Given the description of an element on the screen output the (x, y) to click on. 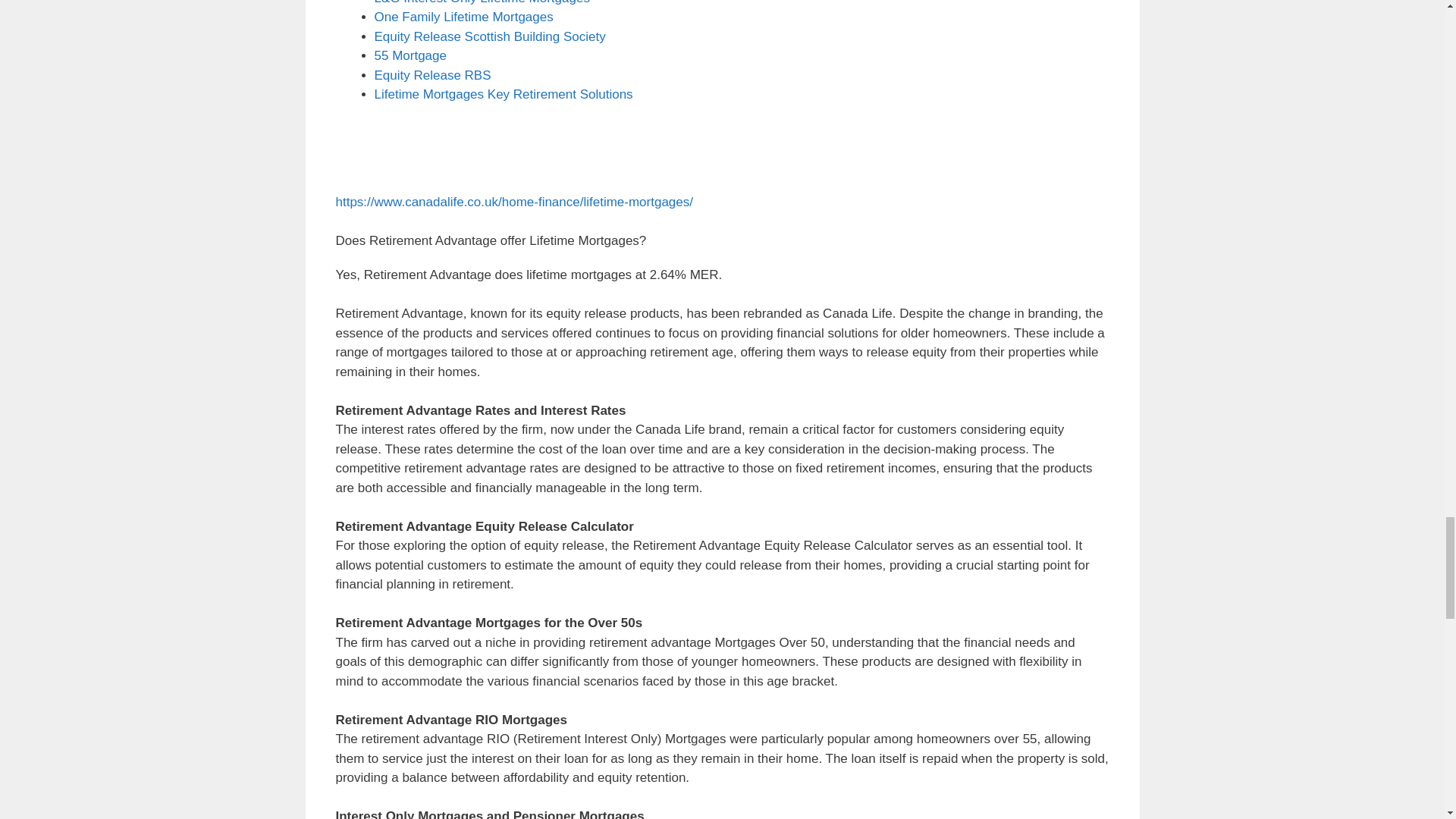
Equity Release Scottish Building Society (489, 36)
55 Mortgage (410, 55)
Lifetime Mortgages Key Retirement Solutions (503, 93)
Equity Release RBS (433, 74)
One Family Lifetime Mortgages (463, 16)
